Given the description of an element on the screen output the (x, y) to click on. 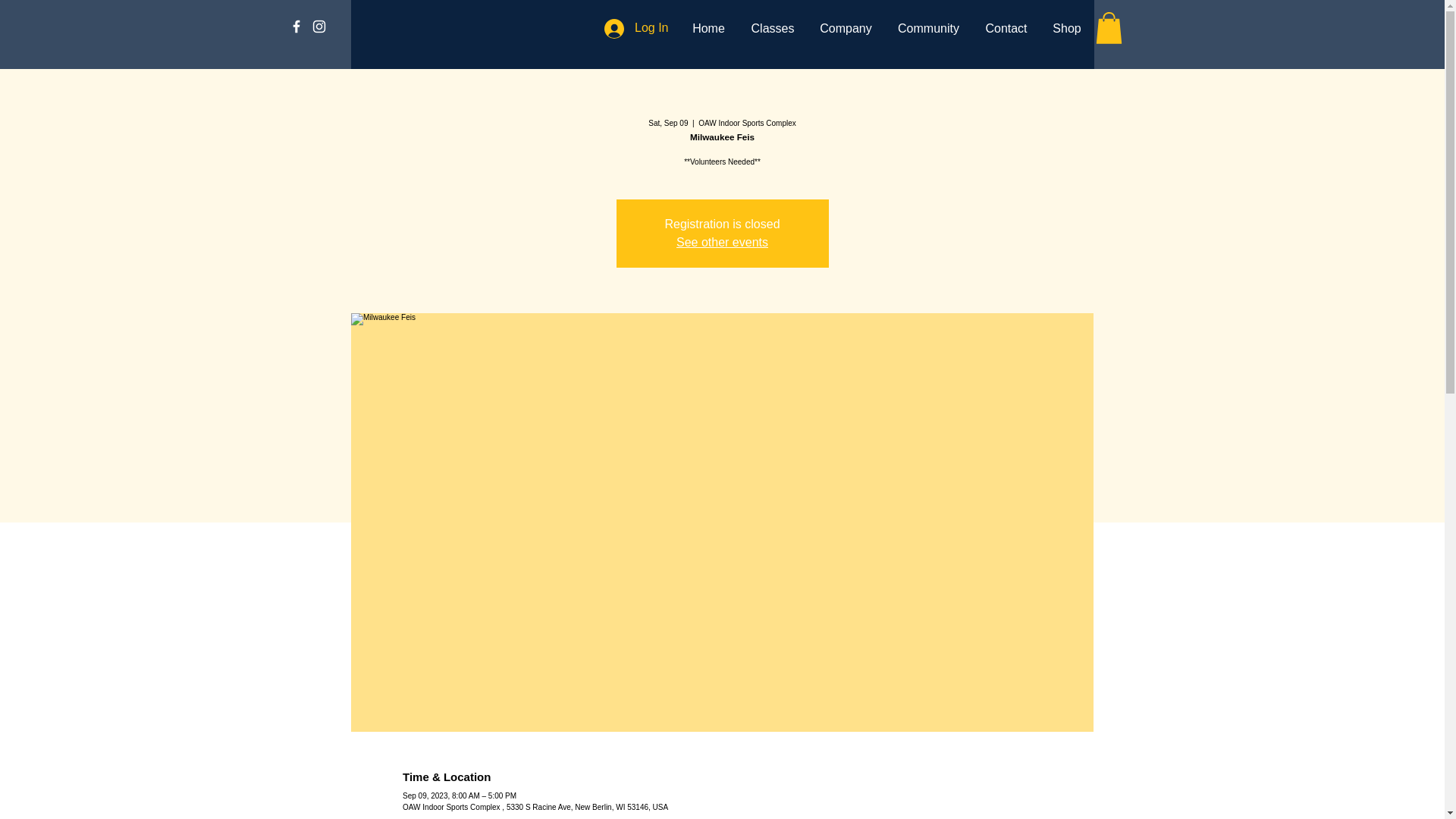
Log In (636, 27)
Classes (773, 28)
Home (708, 28)
Shop (1067, 28)
Community (927, 28)
See other events (722, 241)
Contact (1005, 28)
Company (844, 28)
